Given the description of an element on the screen output the (x, y) to click on. 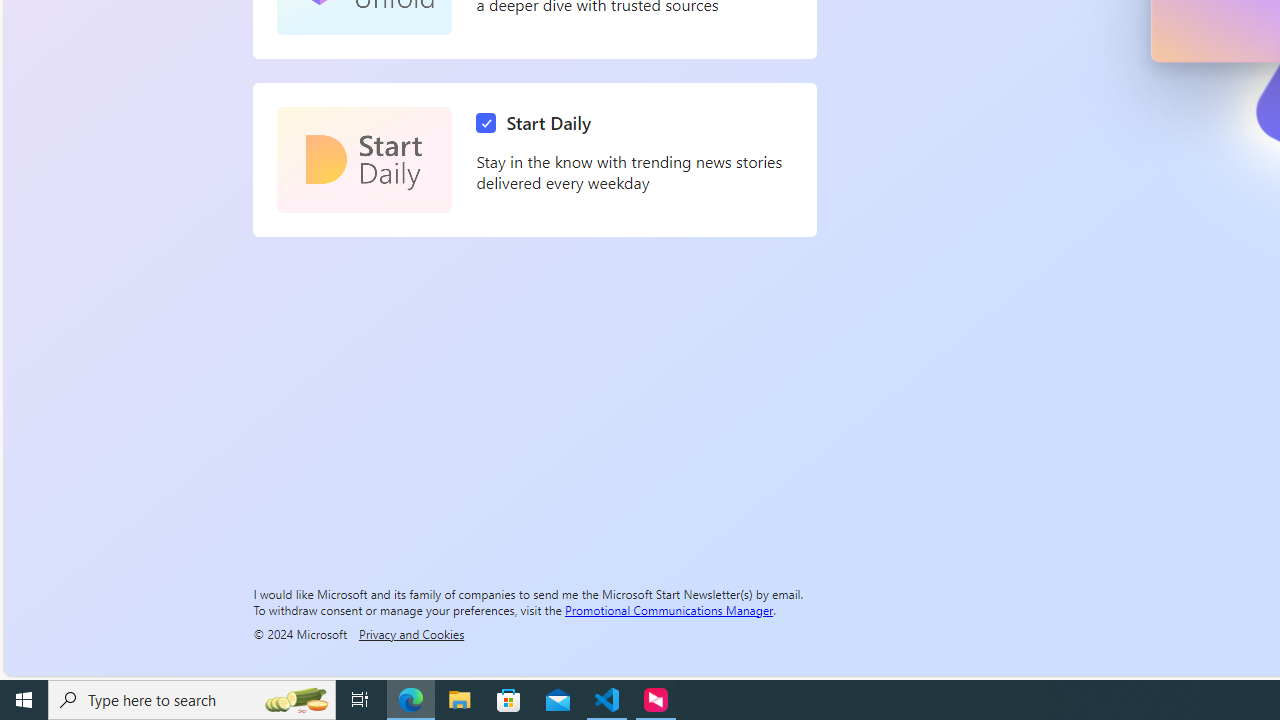
Promotional Communications Manager (669, 609)
Privacy and Cookies (411, 633)
Start Daily (538, 123)
Start Daily (364, 160)
